Given the description of an element on the screen output the (x, y) to click on. 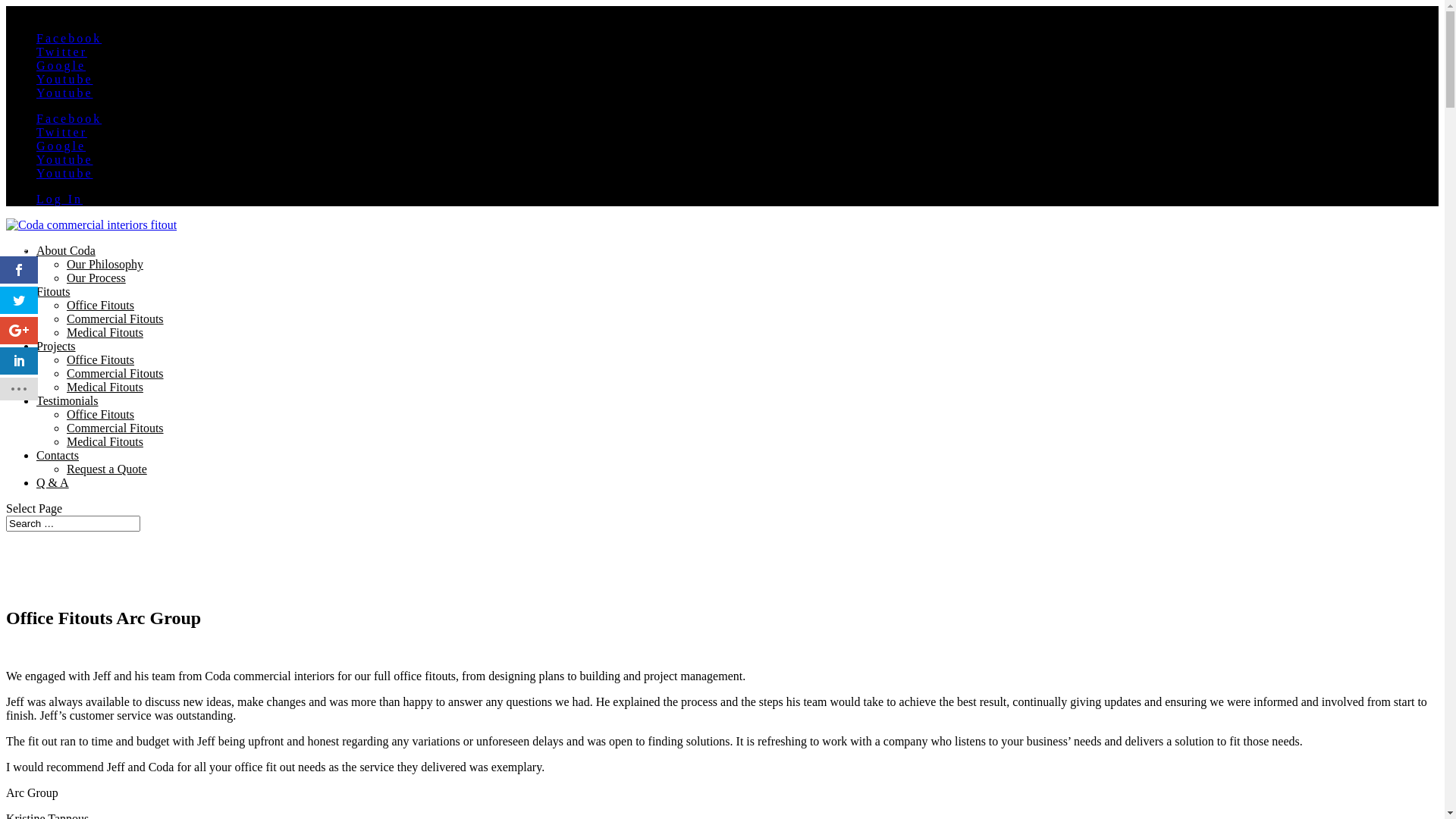
Fitouts Element type: text (52, 291)
Medical Fitouts Element type: text (104, 441)
Contacts Element type: text (57, 454)
Facebook Element type: text (68, 37)
Twitter Element type: text (61, 131)
Search for: Element type: hover (73, 523)
Log In Element type: text (59, 198)
Commercial Fitouts Element type: text (114, 373)
Google Element type: text (60, 65)
Youtube Element type: text (64, 92)
Office Fitouts Element type: text (100, 359)
Office Fitouts Element type: text (100, 413)
Medical Fitouts Element type: text (104, 332)
Commercial Fitouts Element type: text (114, 427)
About Coda Element type: text (65, 250)
Twitter Element type: text (61, 51)
Facebook Element type: text (68, 118)
Youtube Element type: text (64, 78)
Commercial Fitouts Element type: text (114, 318)
Q & A Element type: text (52, 482)
Projects Element type: text (55, 345)
Our Philosophy Element type: text (104, 263)
Testimonials Element type: text (67, 400)
Youtube Element type: text (64, 159)
Our Process Element type: text (95, 277)
Medical Fitouts Element type: text (104, 386)
Request a Quote Element type: text (106, 468)
Google Element type: text (60, 145)
Youtube Element type: text (64, 172)
Office Fitouts Element type: text (100, 304)
